Given the description of an element on the screen output the (x, y) to click on. 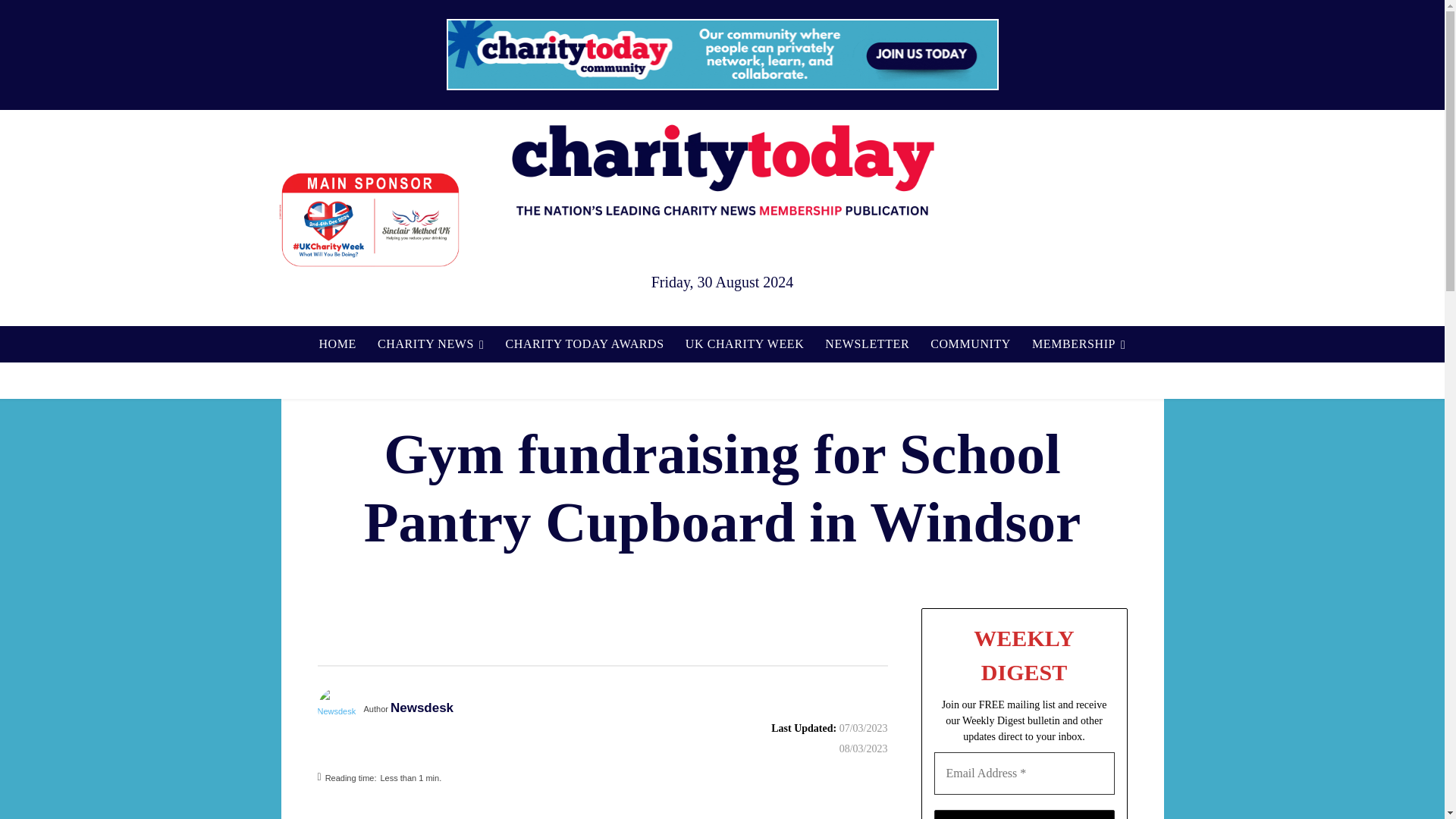
HOME (336, 343)
Join Newsletter (1024, 814)
CHARITY NEWS (430, 343)
Charity Today Awards logo (1064, 221)
